Given the description of an element on the screen output the (x, y) to click on. 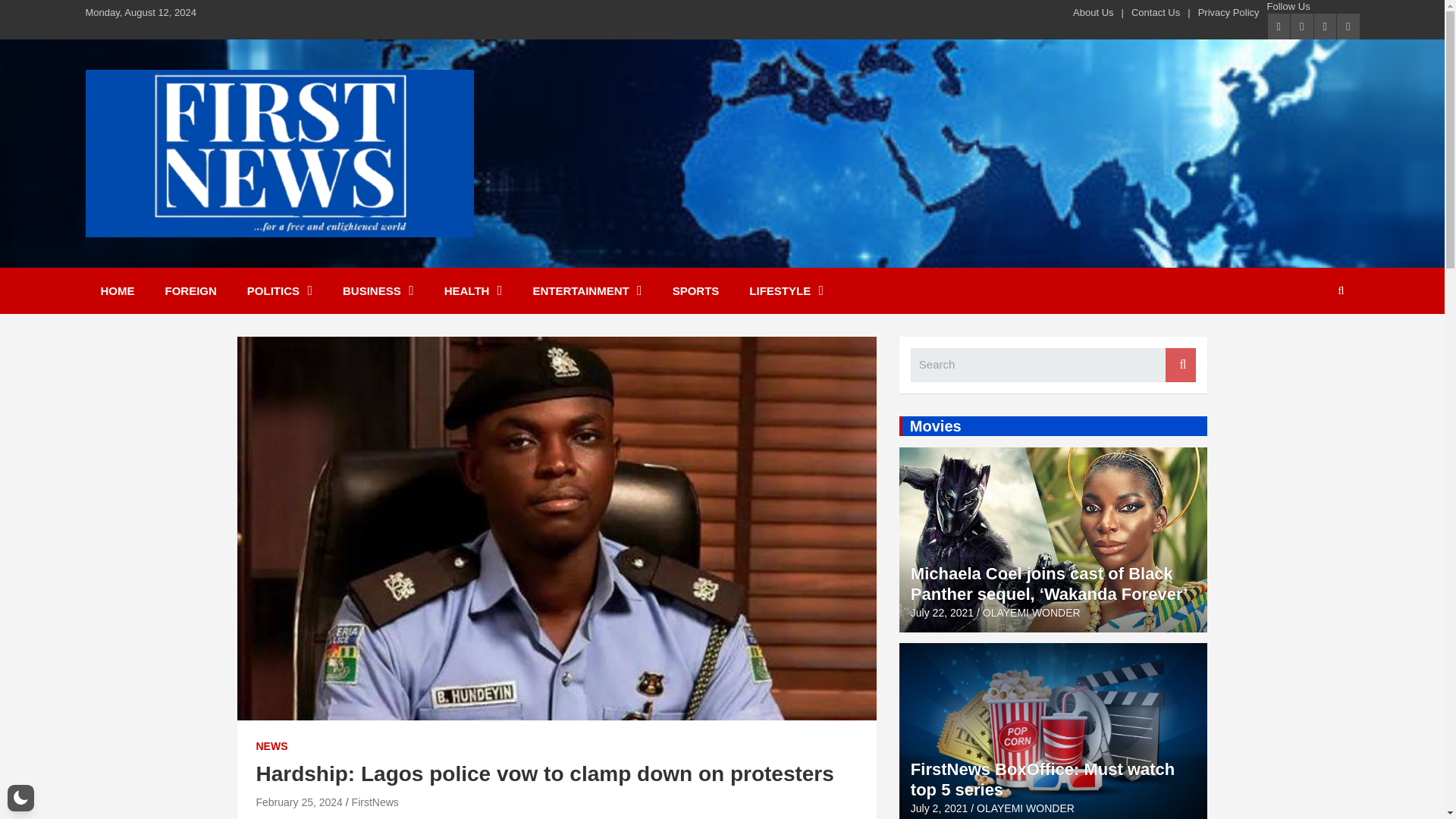
POLITICS (279, 290)
First News NG (188, 256)
HEALTH (473, 290)
NEWS (272, 746)
FirstNews BoxOffice: Must watch top 5 series (939, 808)
ENTERTAINMENT (586, 290)
FOREIGN (190, 290)
February 25, 2024 (299, 802)
Contact Us (1155, 12)
BUSINESS (378, 290)
